Given the description of an element on the screen output the (x, y) to click on. 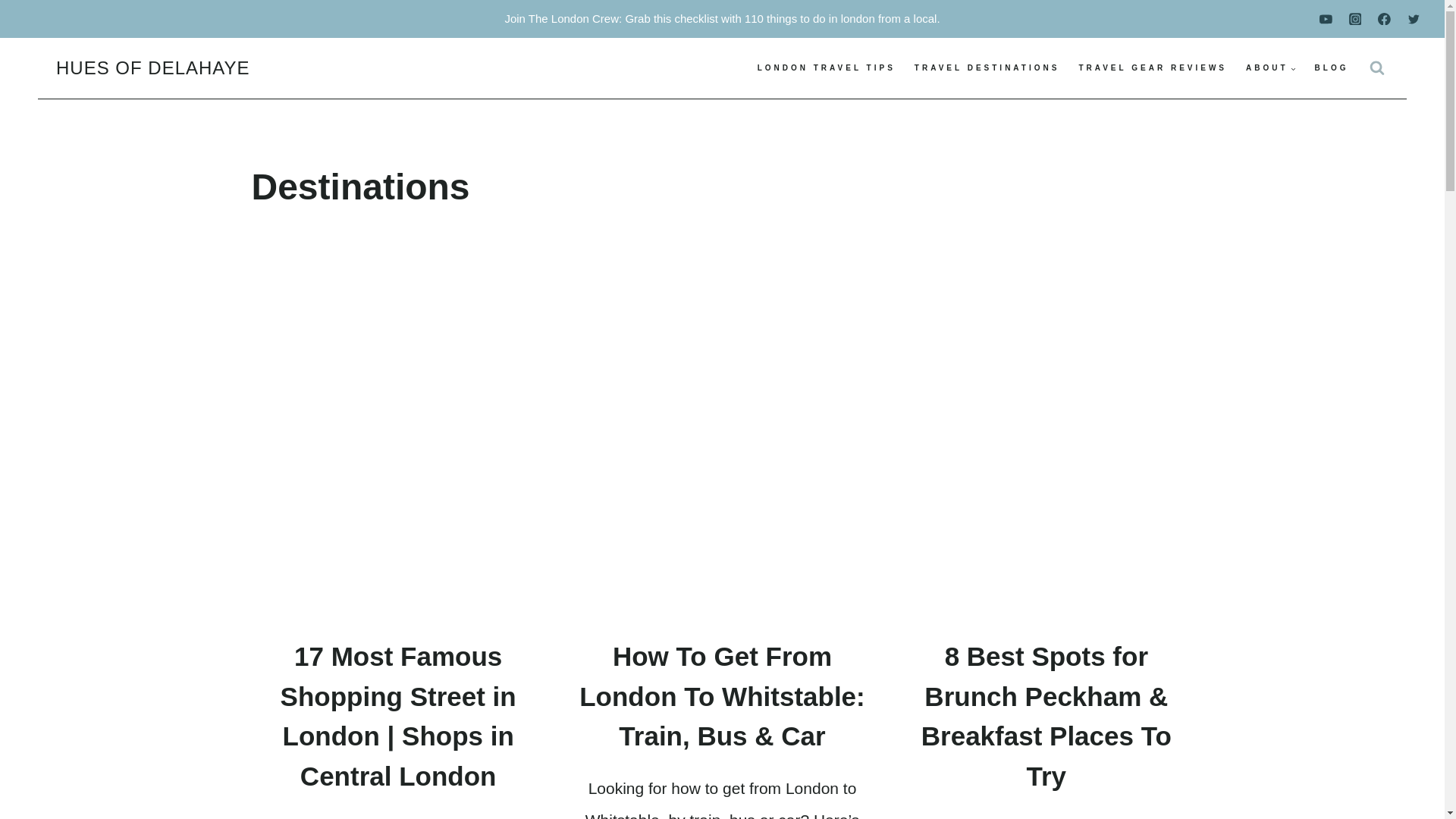
LONDON TRAVEL TIPS (826, 67)
HUES OF DELAHAYE (153, 68)
TRAVEL DESTINATIONS (986, 67)
TRAVEL GEAR REVIEWS (1152, 67)
ABOUT (1271, 67)
